Given the description of an element on the screen output the (x, y) to click on. 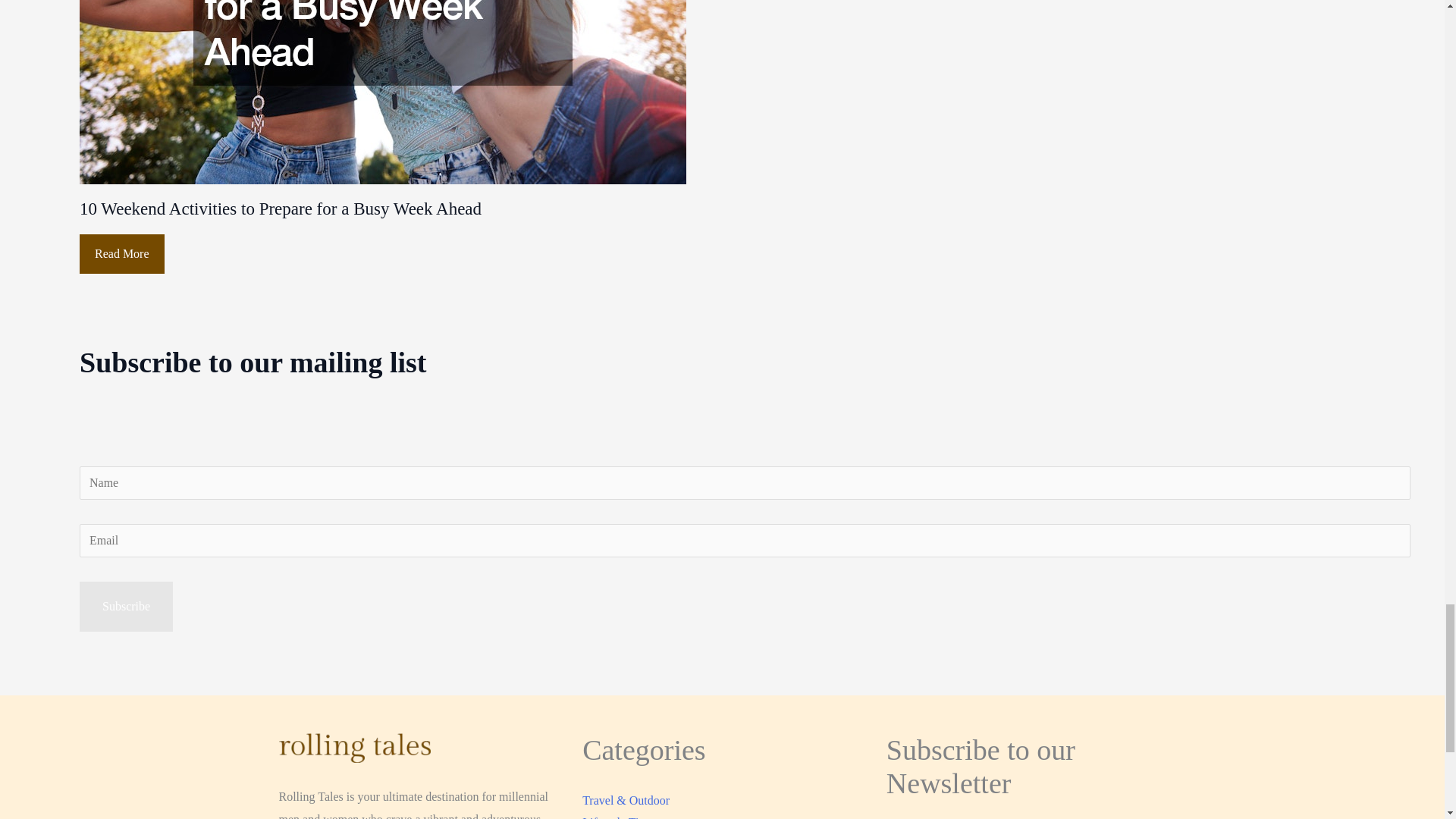
10 Weekend Activities to Prepare for a Busy Week Ahead (280, 208)
Subscribe (126, 606)
